Given the description of an element on the screen output the (x, y) to click on. 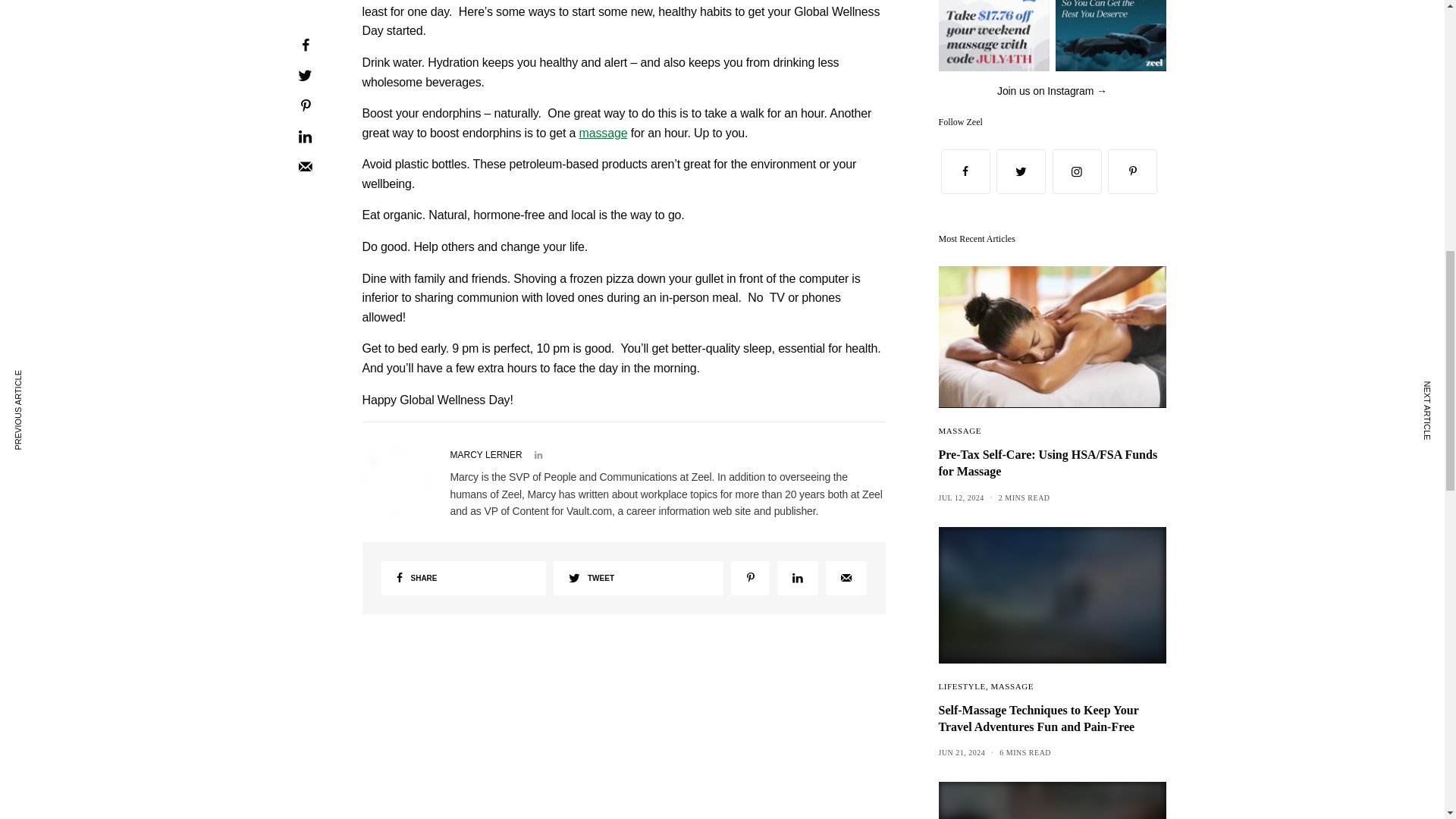
massage (603, 132)
TWEET (638, 578)
MARCY LERNER (485, 454)
SHARE (463, 578)
